Given the description of an element on the screen output the (x, y) to click on. 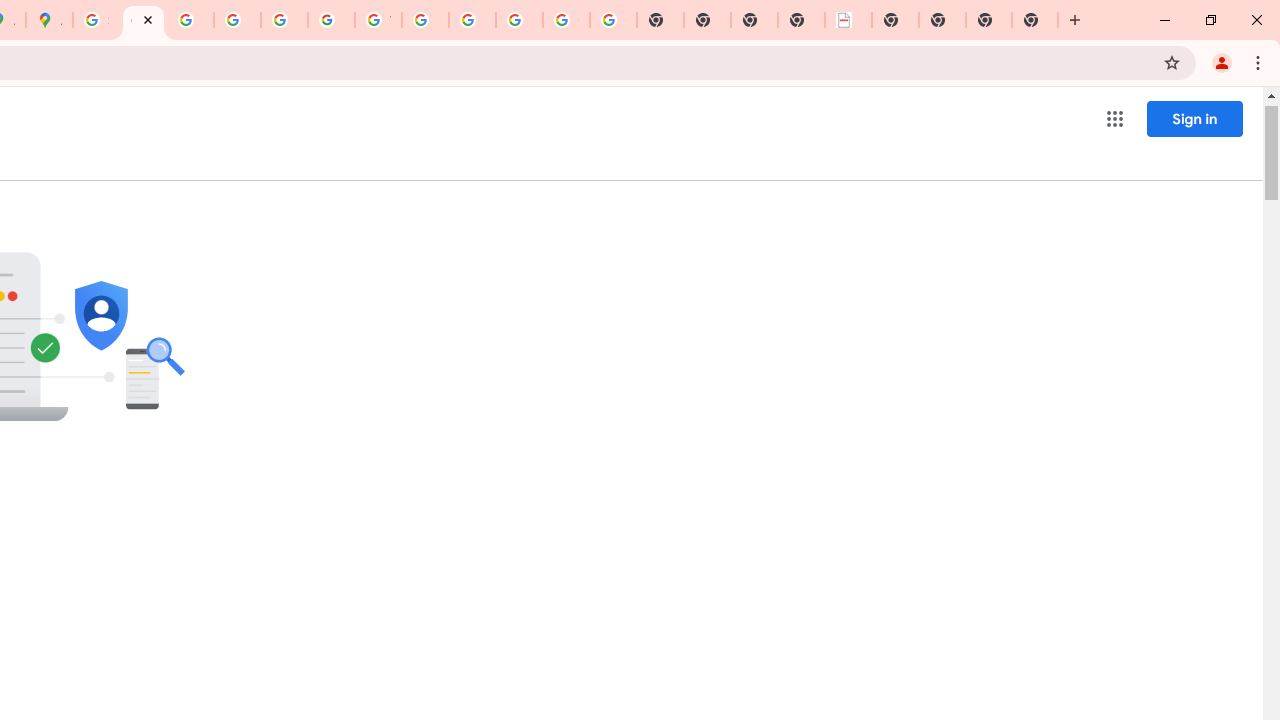
Privacy Help Center - Policies Help (189, 20)
New Tab (895, 20)
YouTube (377, 20)
New Tab (989, 20)
